Given the description of an element on the screen output the (x, y) to click on. 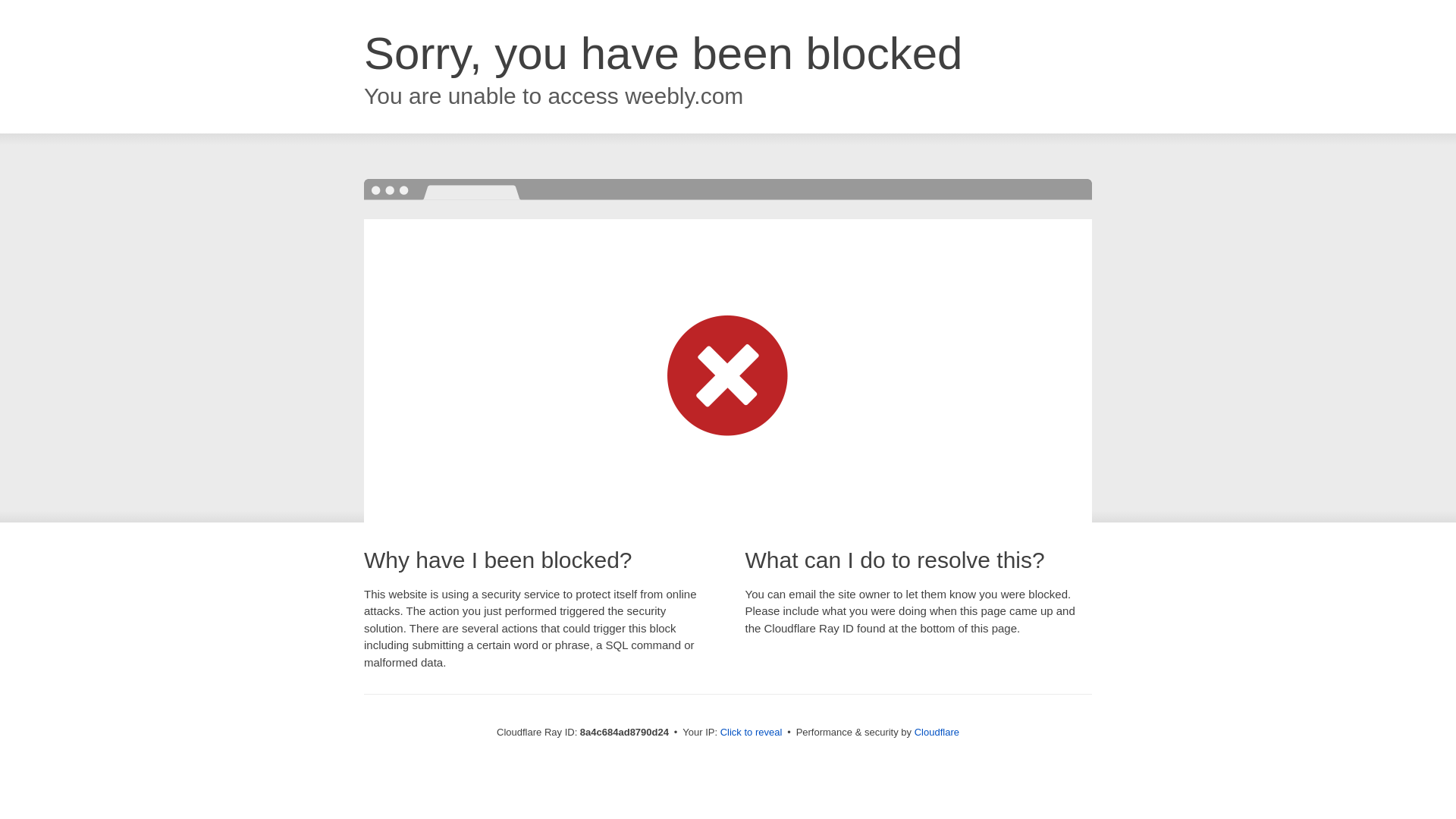
Cloudflare (936, 731)
Click to reveal (751, 732)
